Given the description of an element on the screen output the (x, y) to click on. 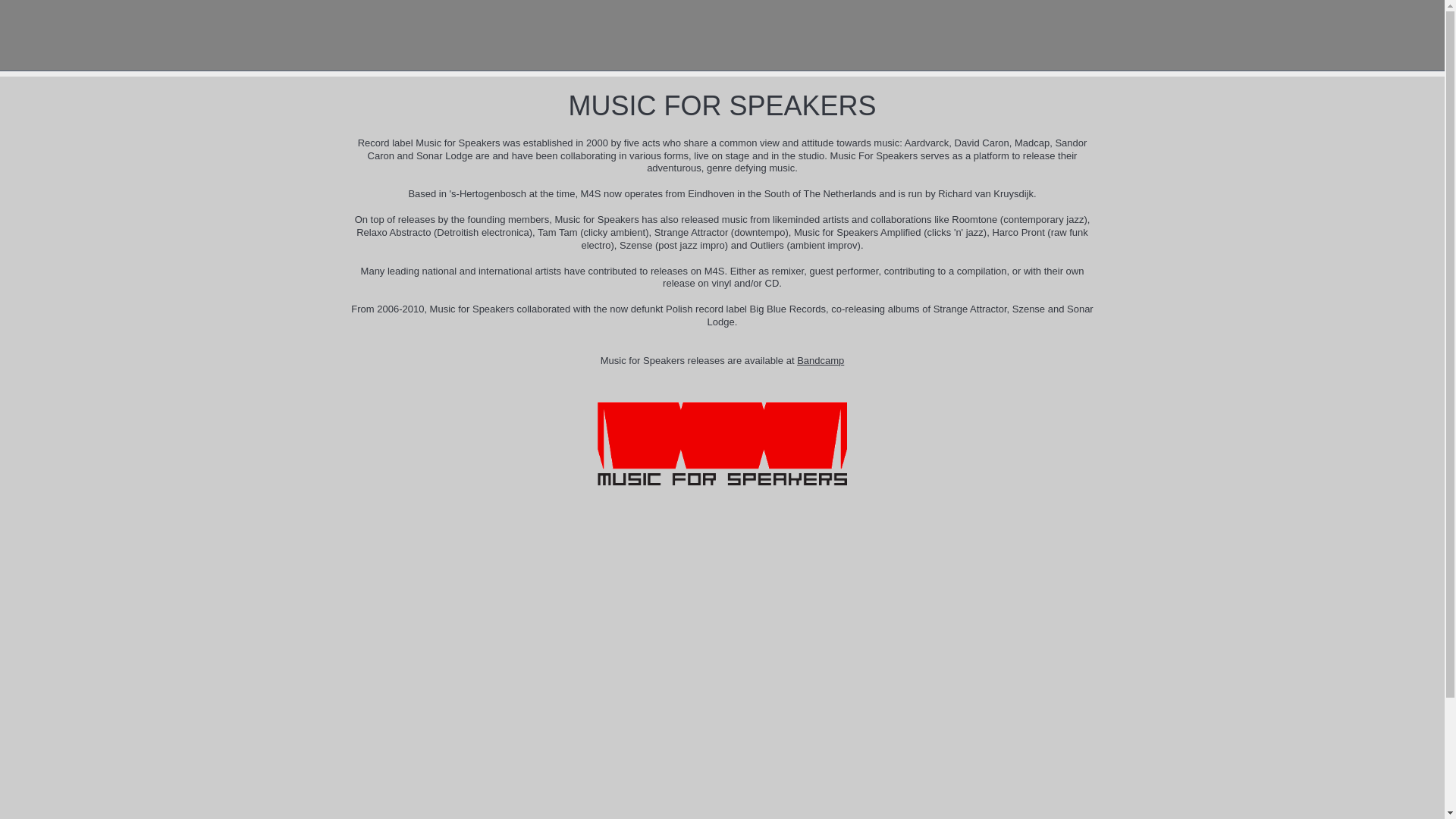
Bandcamp (820, 360)
